Given the description of an element on the screen output the (x, y) to click on. 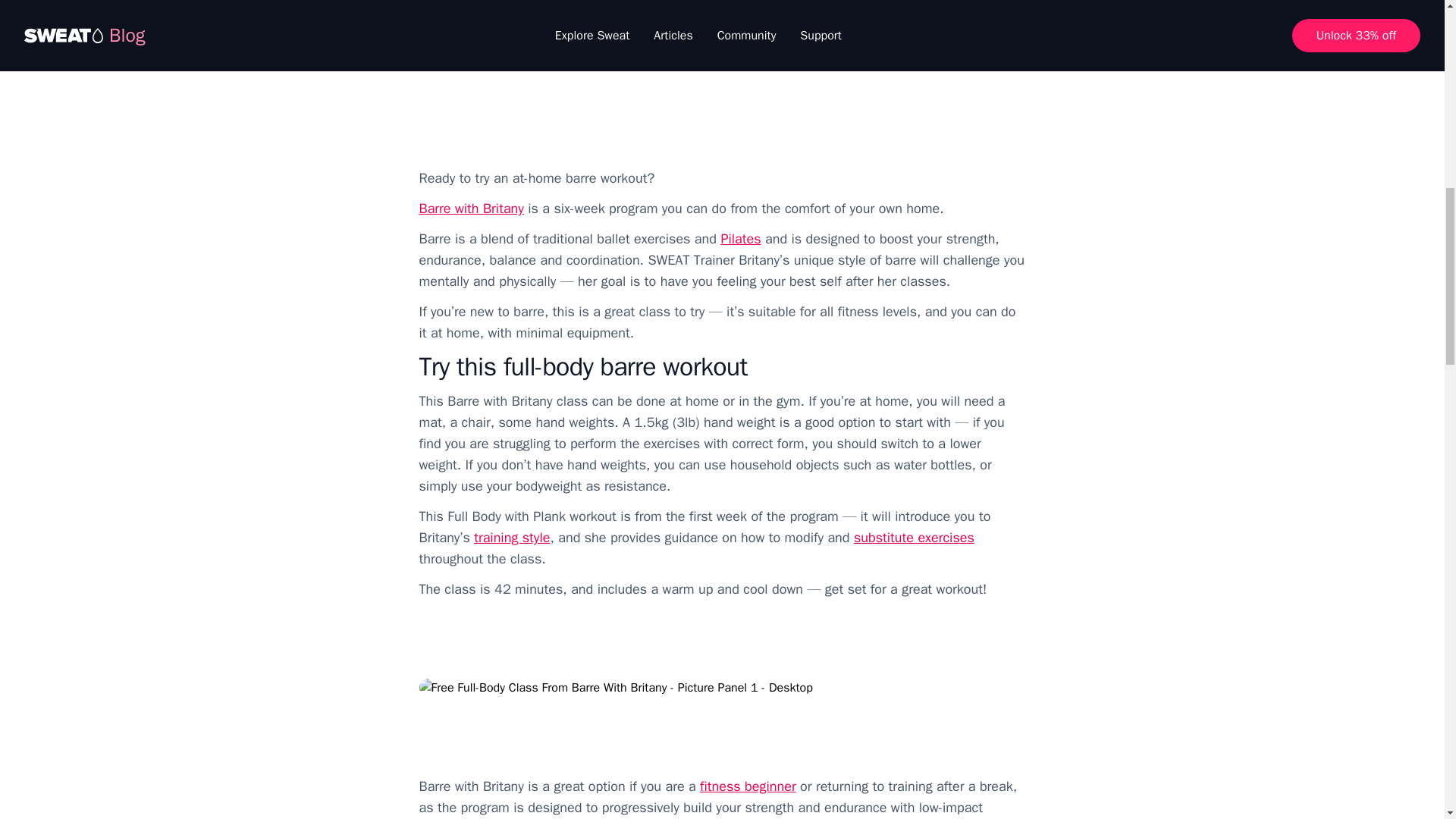
Pilates (740, 238)
Barre with Britany (470, 208)
fitness beginner (748, 786)
substitute exercises (913, 537)
training style (512, 537)
